Given the description of an element on the screen output the (x, y) to click on. 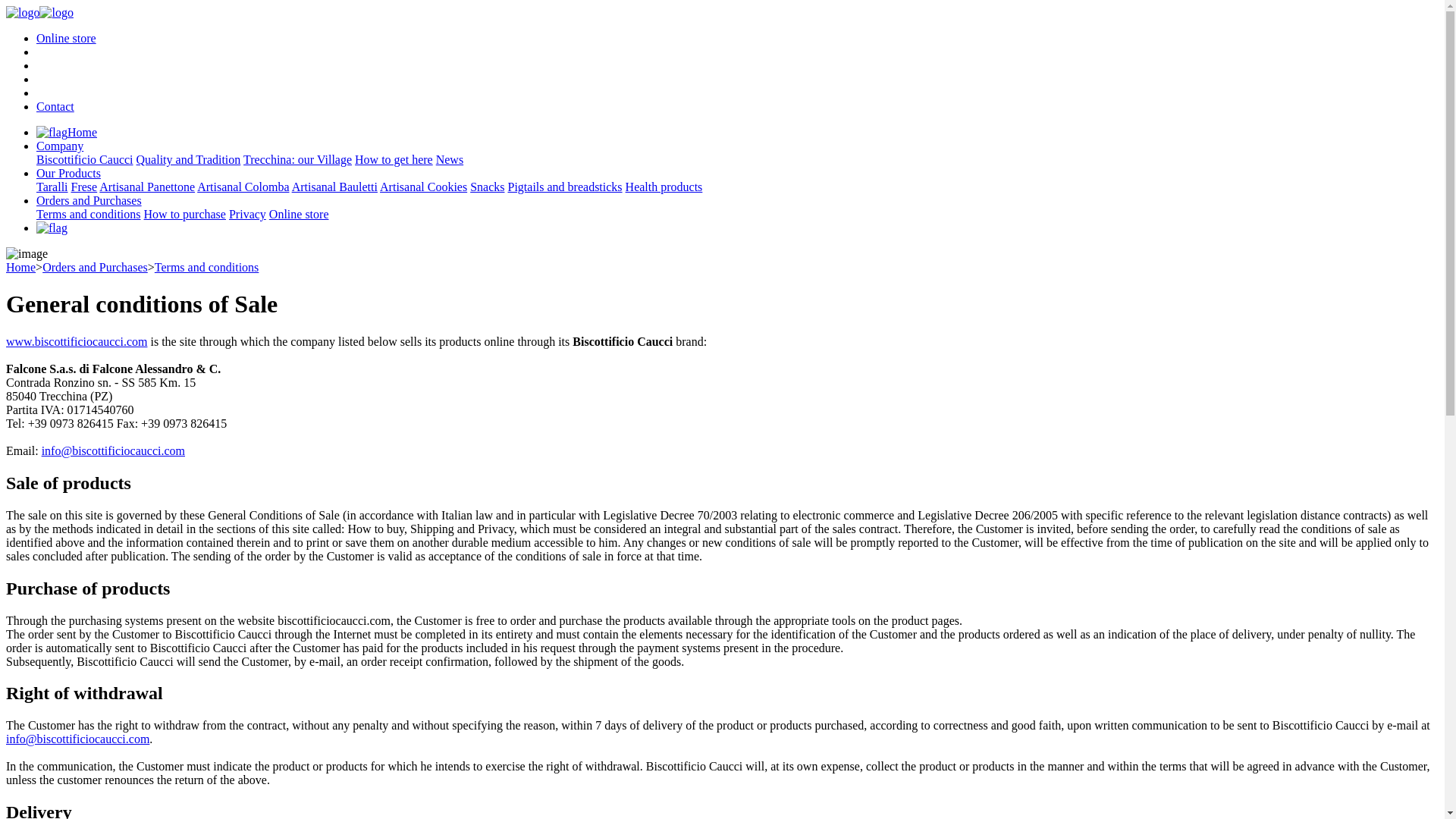
Orders and Purchases (95, 267)
Home (66, 132)
Orders and Purchases (88, 200)
Artisanal Colomba (242, 186)
Frese (84, 186)
Home (19, 267)
Company (59, 145)
Artisanal Bauletti (334, 186)
Biscottificio Caucci (39, 11)
Snacks (486, 186)
